Given the description of an element on the screen output the (x, y) to click on. 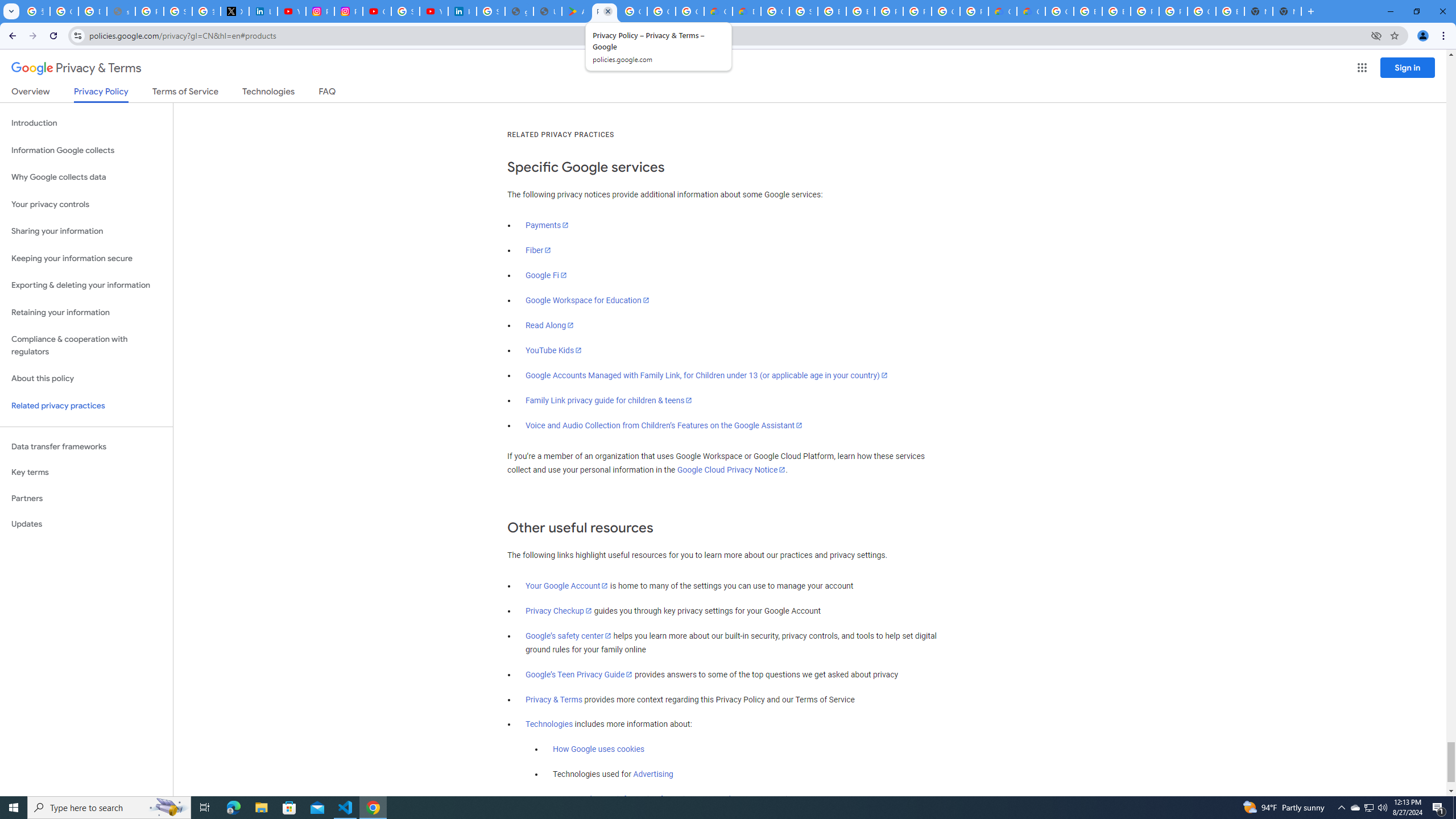
Updates (86, 524)
User Details (547, 11)
support.google.com - Network error (120, 11)
Privacy Policy (100, 94)
About this policy (86, 379)
New Tab (1287, 11)
X (234, 11)
Terms of Service (184, 93)
Privacy Checkup (558, 610)
Browse Chrome as a guest - Computer - Google Chrome Help (831, 11)
